Given the description of an element on the screen output the (x, y) to click on. 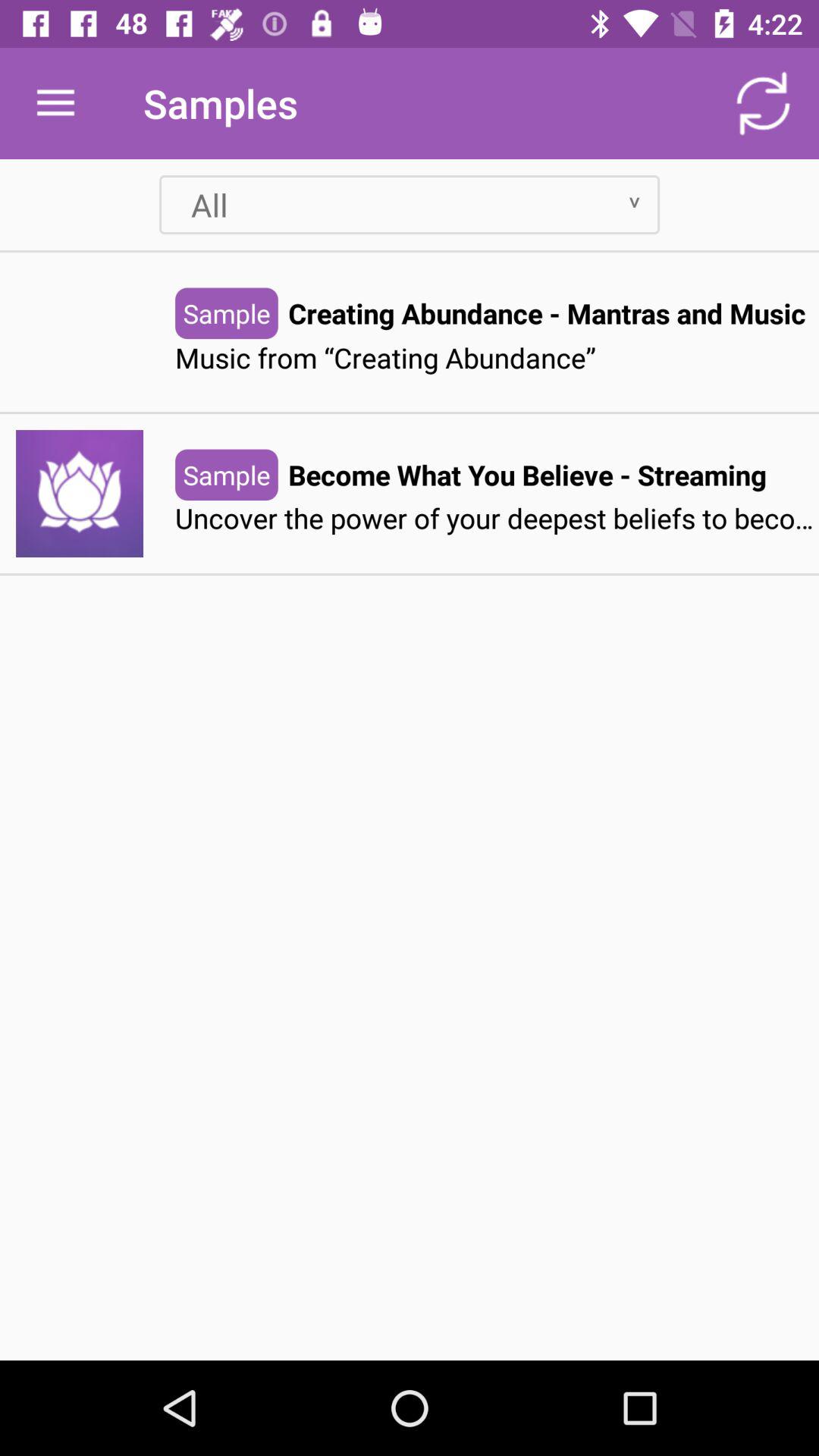
turn off the become what you item (527, 474)
